Given the description of an element on the screen output the (x, y) to click on. 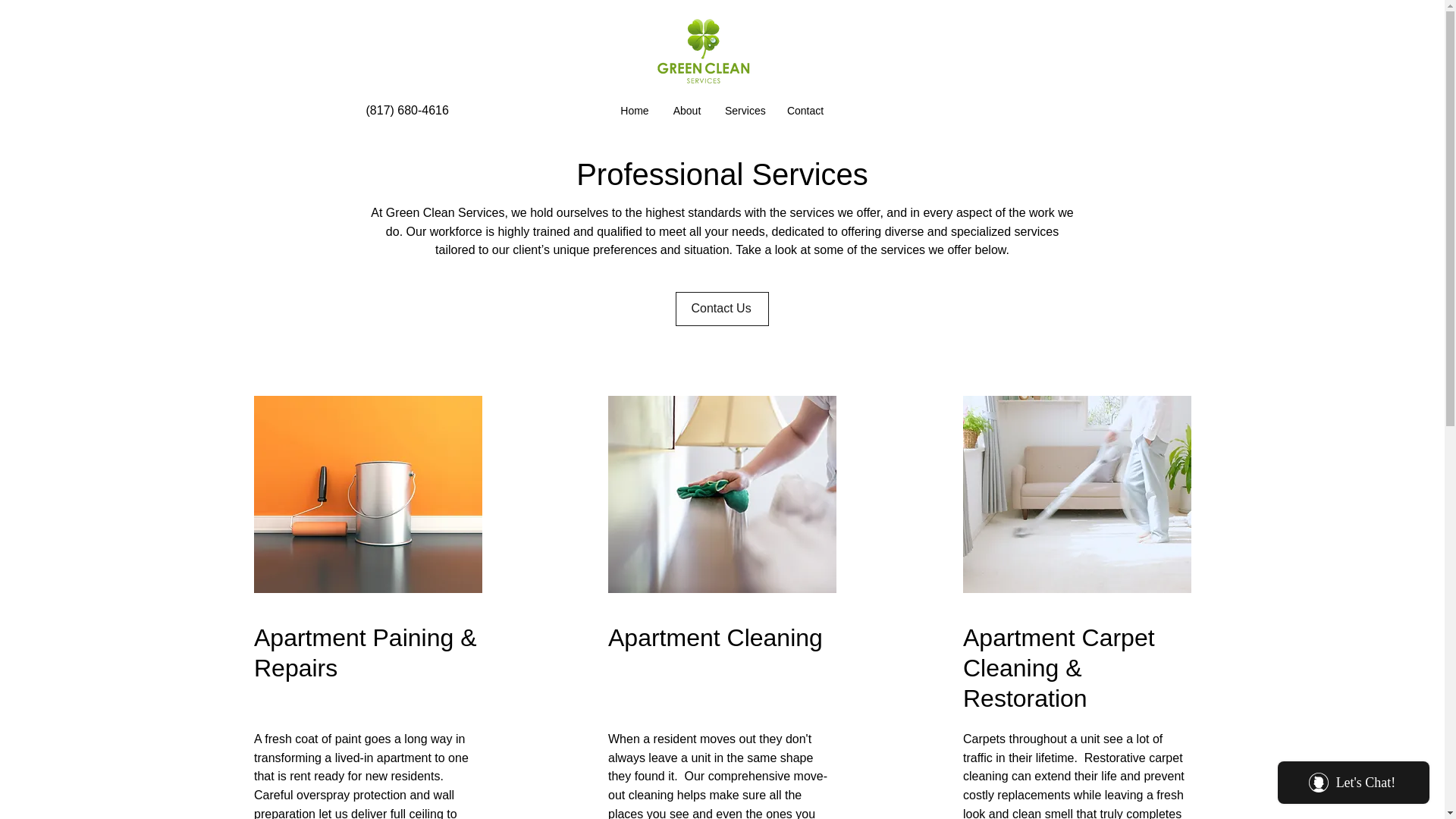
Home (634, 110)
Green Clean Services (702, 51)
Services (743, 110)
About (687, 110)
Contact (804, 110)
